Given the description of an element on the screen output the (x, y) to click on. 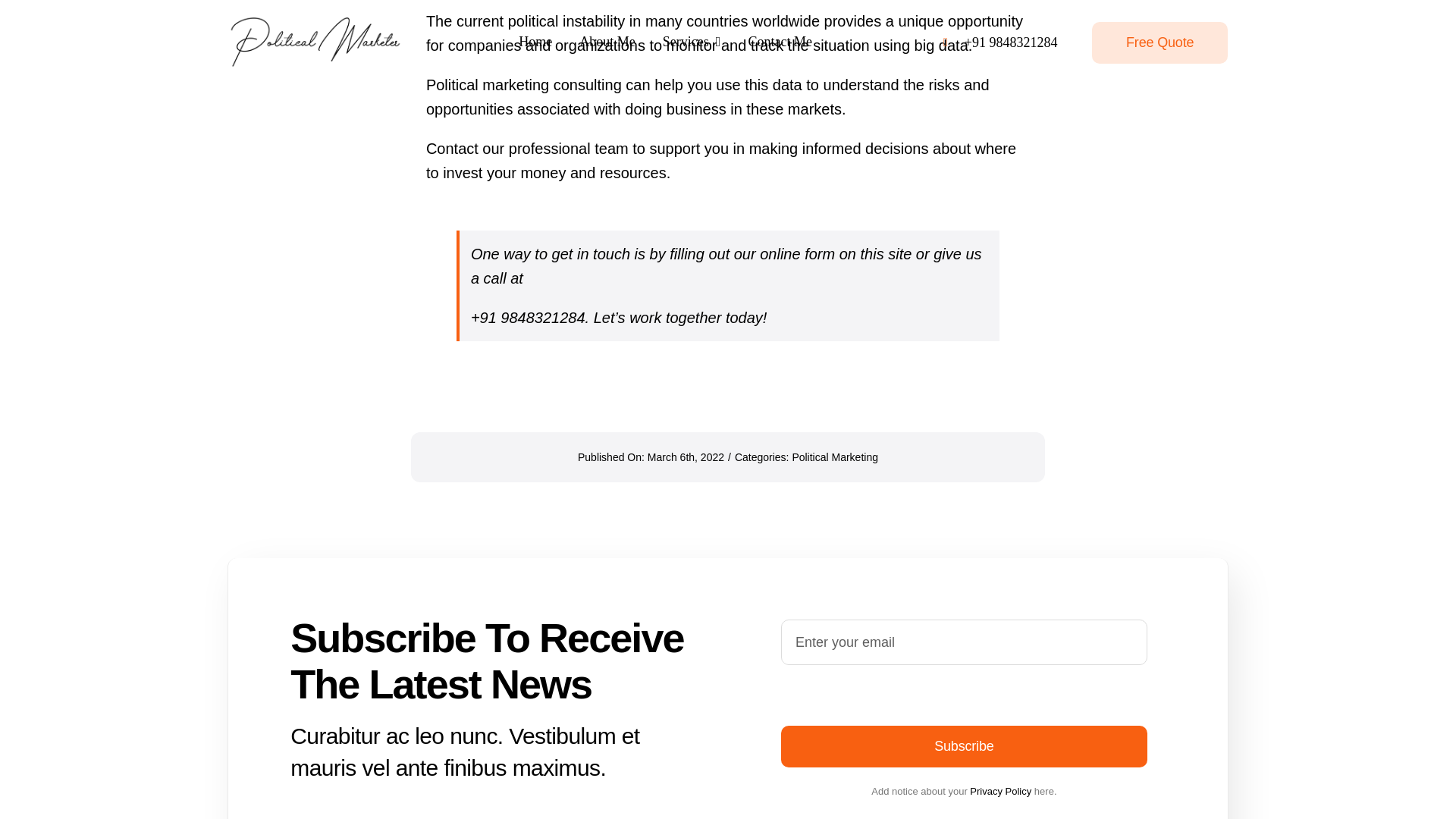
Subscribe (963, 746)
Subscribe (963, 692)
Political Marketing (834, 457)
Privacy Policy (999, 790)
